Given the description of an element on the screen output the (x, y) to click on. 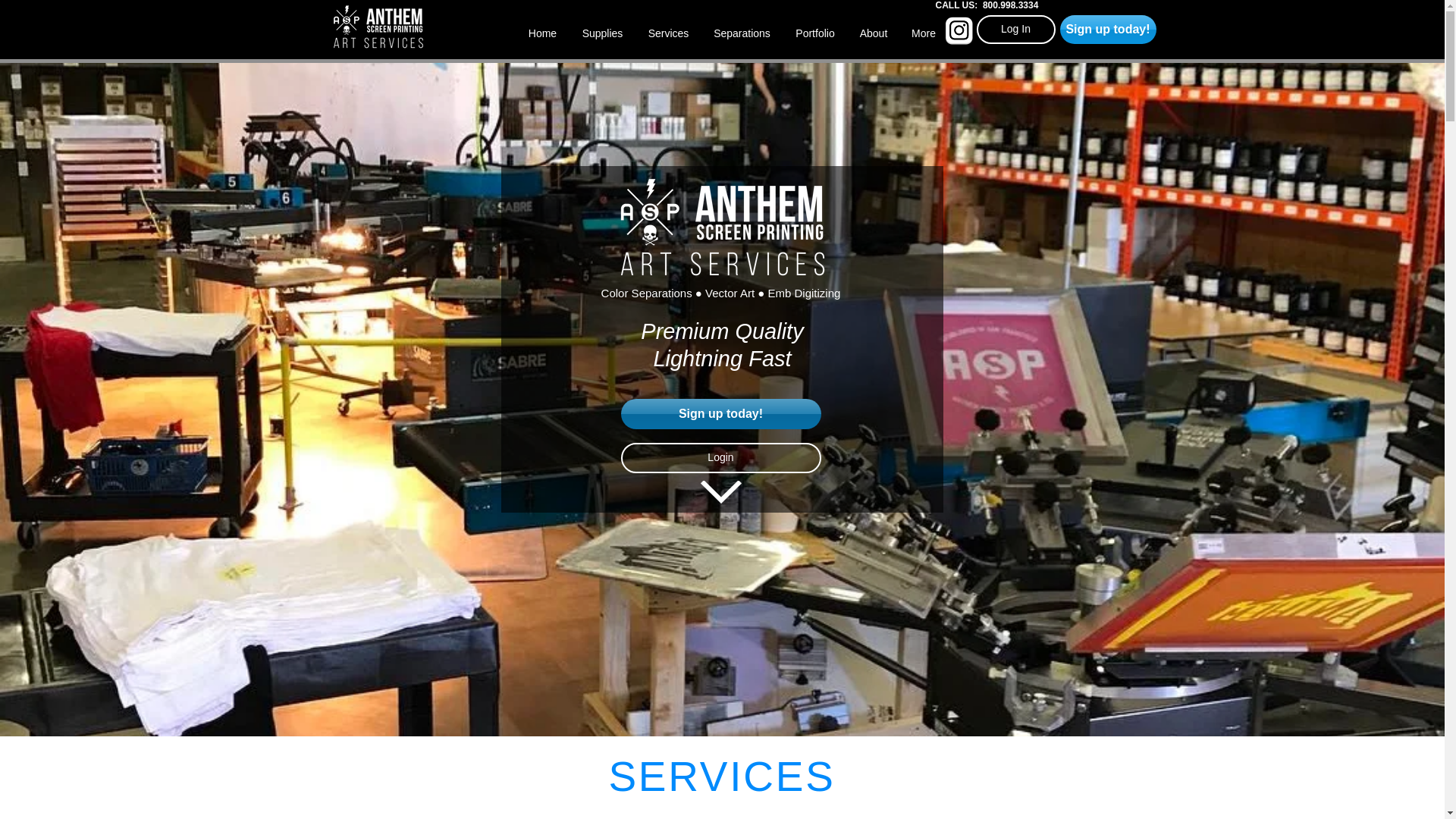
Login (720, 458)
Log In (1015, 29)
Home (542, 33)
Sign up today! (720, 413)
Portfolio (815, 33)
Sign up today! (1107, 29)
Services (667, 33)
Supplies (601, 33)
Separations (741, 33)
About (873, 33)
